Given the description of an element on the screen output the (x, y) to click on. 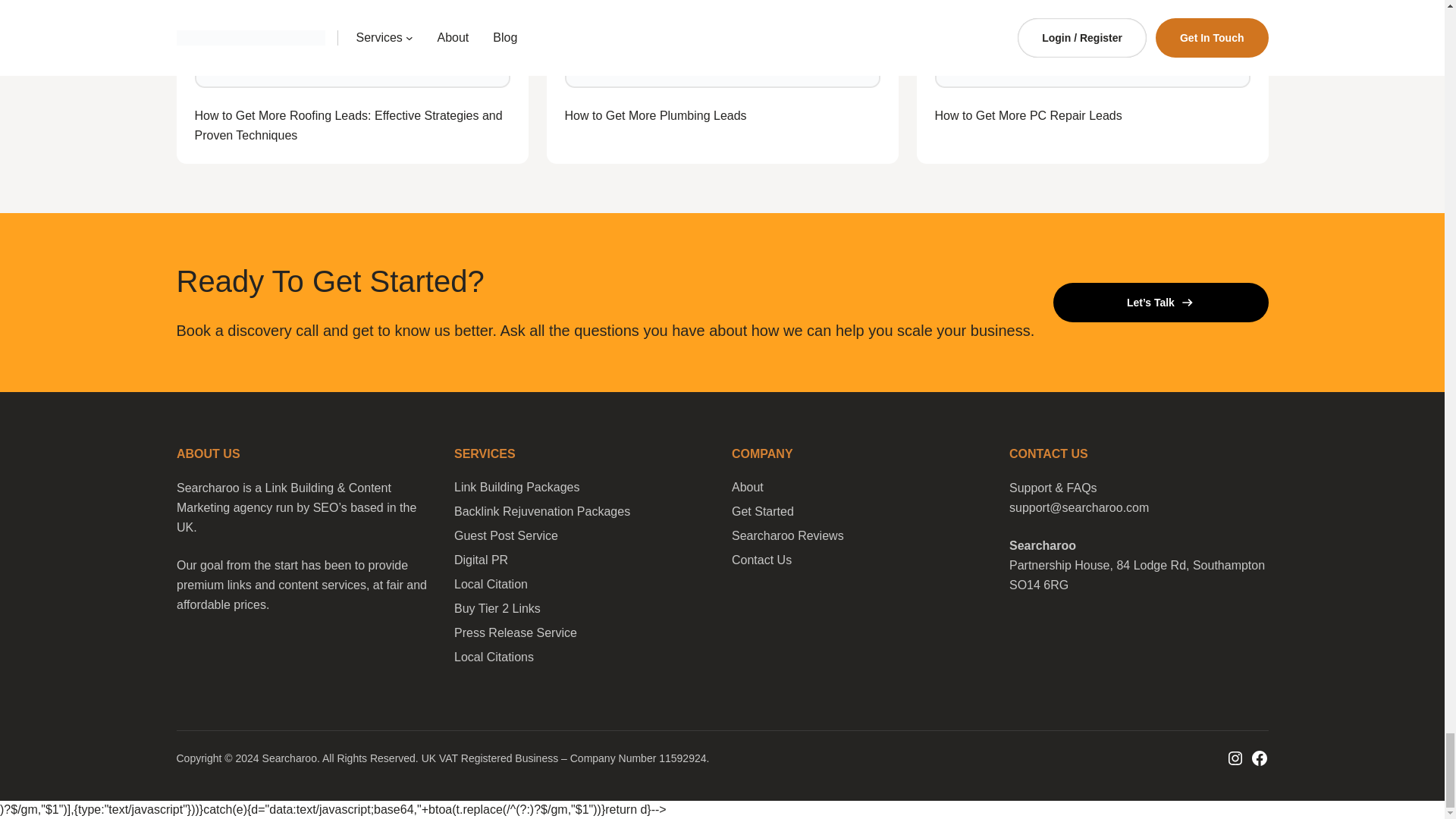
Backlink Rejuvenation Packages (540, 511)
Link Building Packages (515, 486)
